Given the description of an element on the screen output the (x, y) to click on. 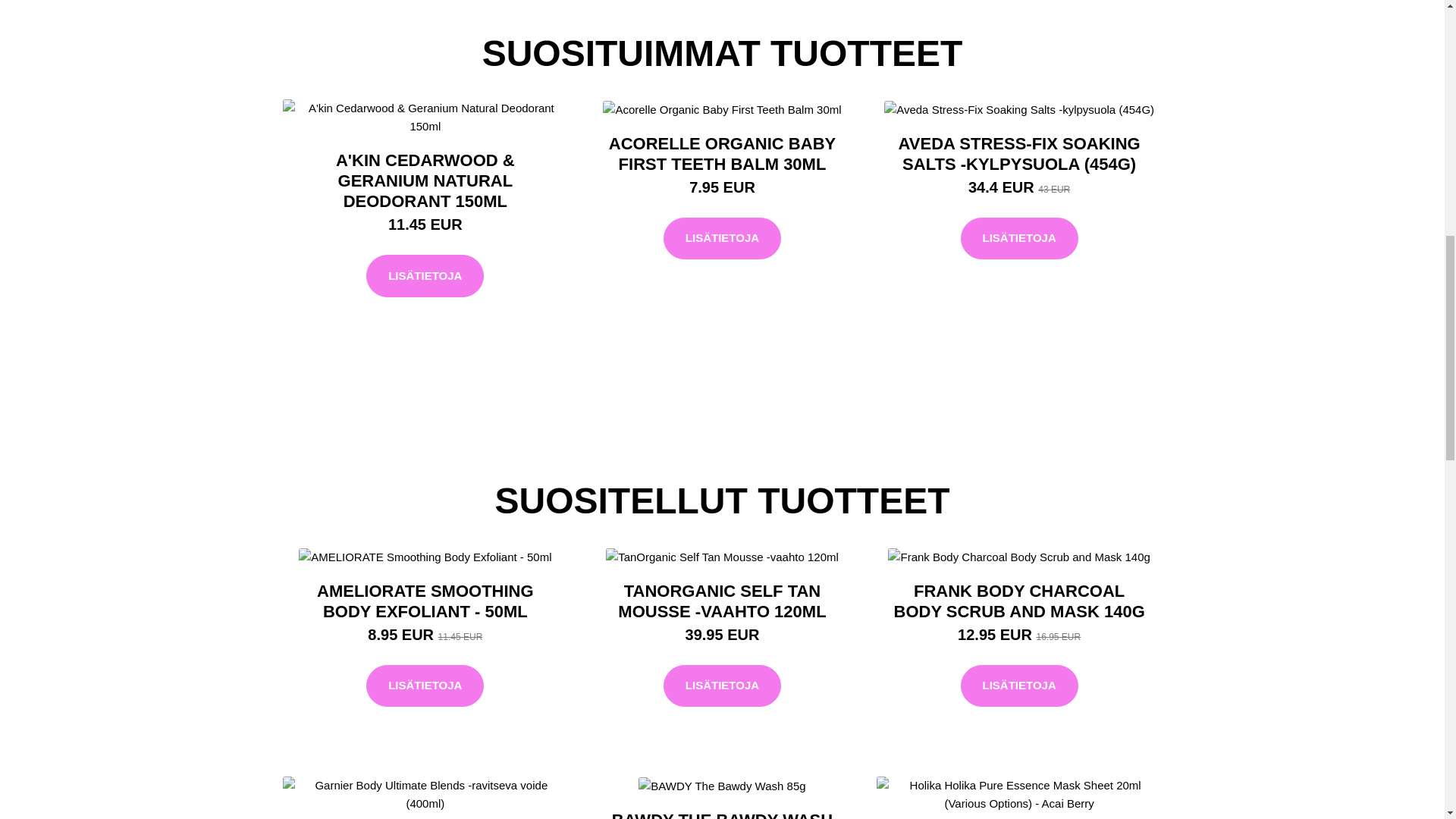
ACORELLE ORGANIC BABY FIRST TEETH BALM 30ML (721, 153)
AMELIORATE SMOOTHING BODY EXFOLIANT - 50ML (425, 600)
TANORGANIC SELF TAN MOUSSE -VAAHTO 120ML (721, 600)
